Given the description of an element on the screen output the (x, y) to click on. 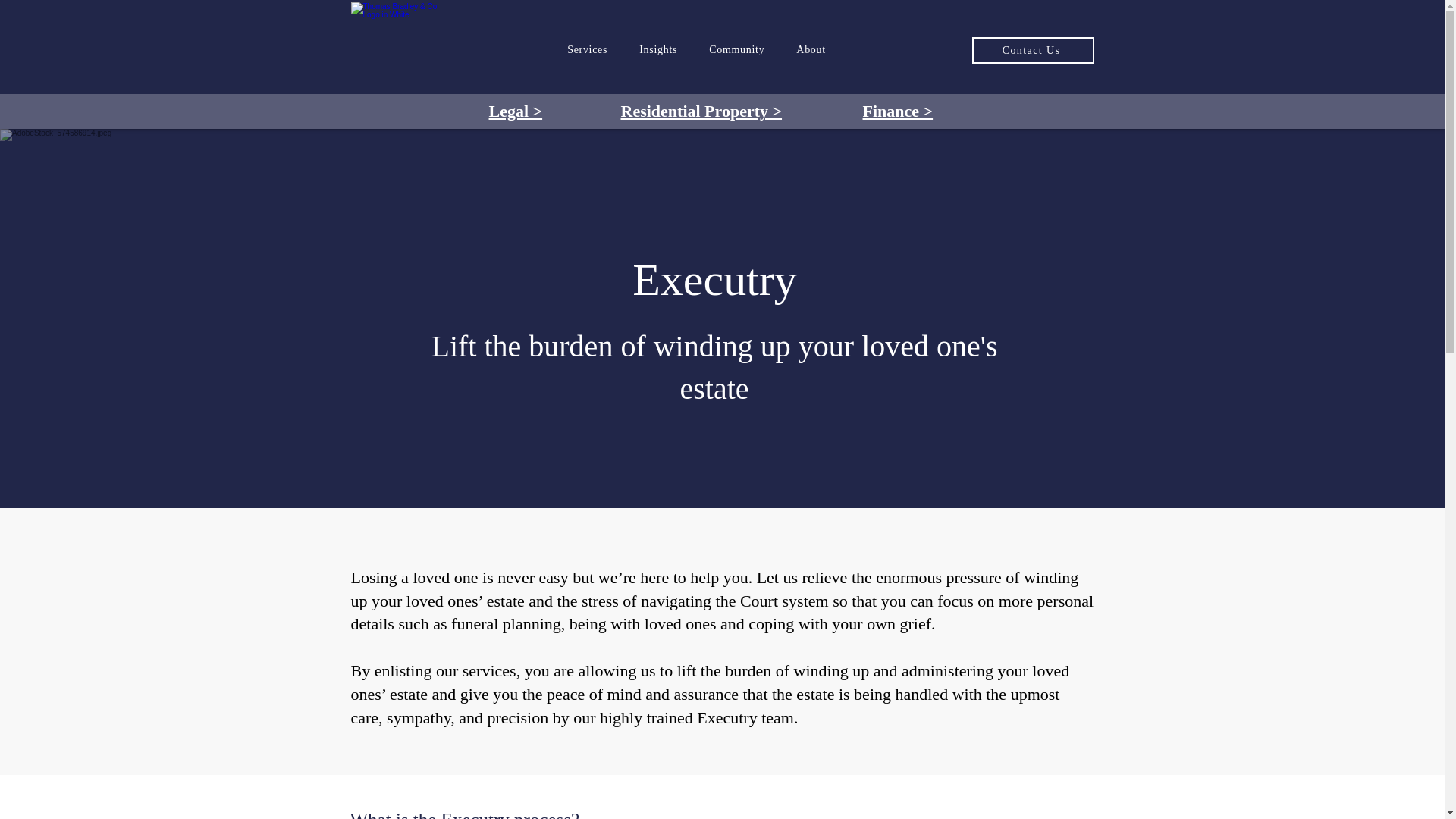
Contact Us (1033, 49)
Insights (658, 49)
